Given the description of an element on the screen output the (x, y) to click on. 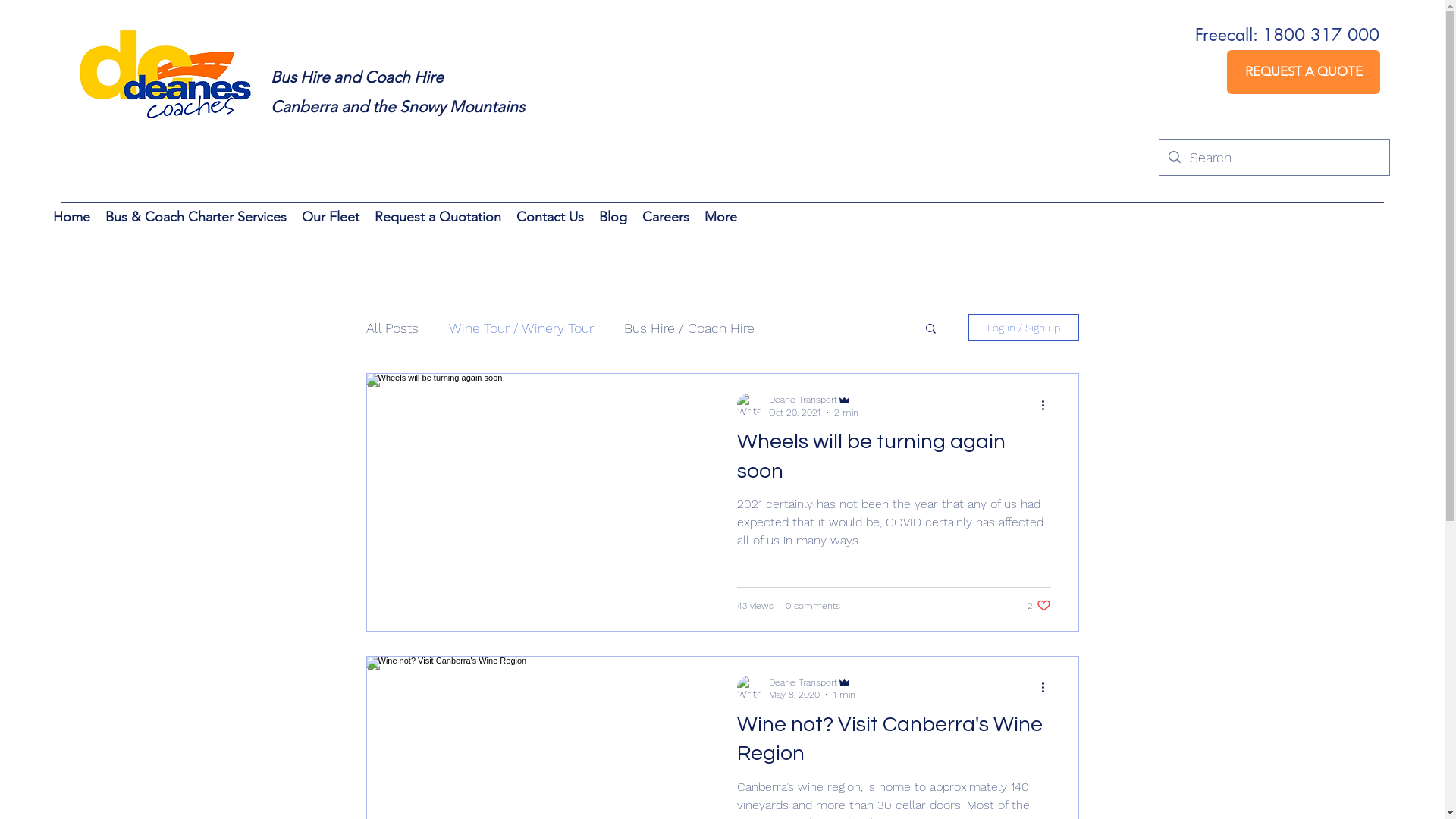
Wine Tour / Winery Tour Element type: text (520, 327)
Blog Element type: text (612, 218)
Contact Us Element type: text (549, 218)
Wine not? Visit Canberra's Wine Region Element type: text (894, 743)
Home Element type: text (71, 218)
Bus & Coach Charter Services Element type: text (195, 218)
Log in / Sign up Element type: text (1022, 327)
Request a Quotation Element type: text (437, 218)
Bus Hire / Coach Hire Element type: text (688, 327)
All Posts Element type: text (391, 327)
Wheels will be turning again soon Element type: text (894, 460)
2 likes. Post not marked as liked
2 Element type: text (1038, 605)
Our Fleet Element type: text (330, 218)
REQUEST A QUOTE Element type: text (1303, 72)
0 comments Element type: text (812, 605)
Careers Element type: text (665, 218)
